Given the description of an element on the screen output the (x, y) to click on. 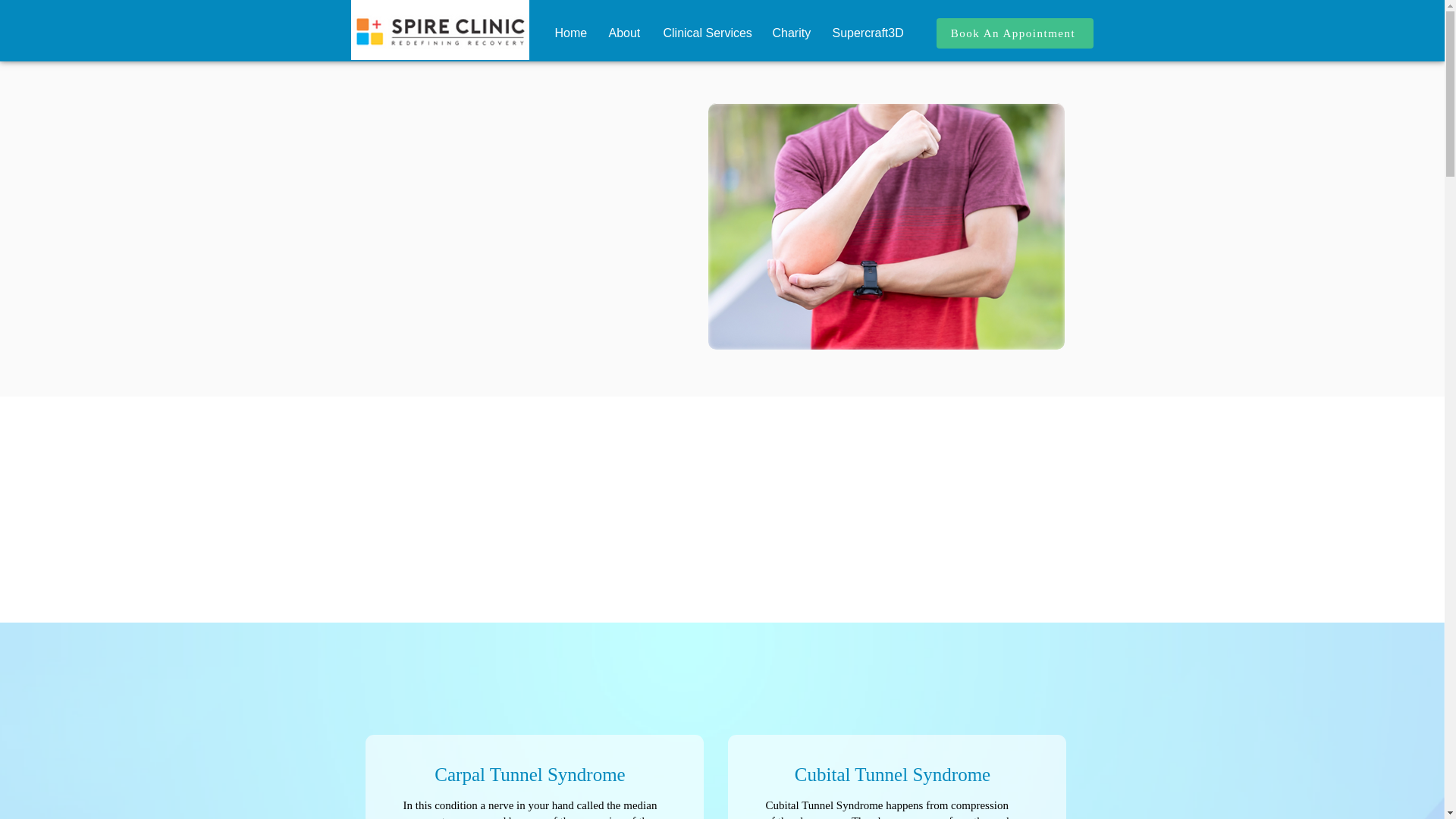
About (622, 33)
Home (569, 33)
Charity (789, 33)
Book An Appointment (1014, 33)
Supercraft3D (867, 33)
